Given the description of an element on the screen output the (x, y) to click on. 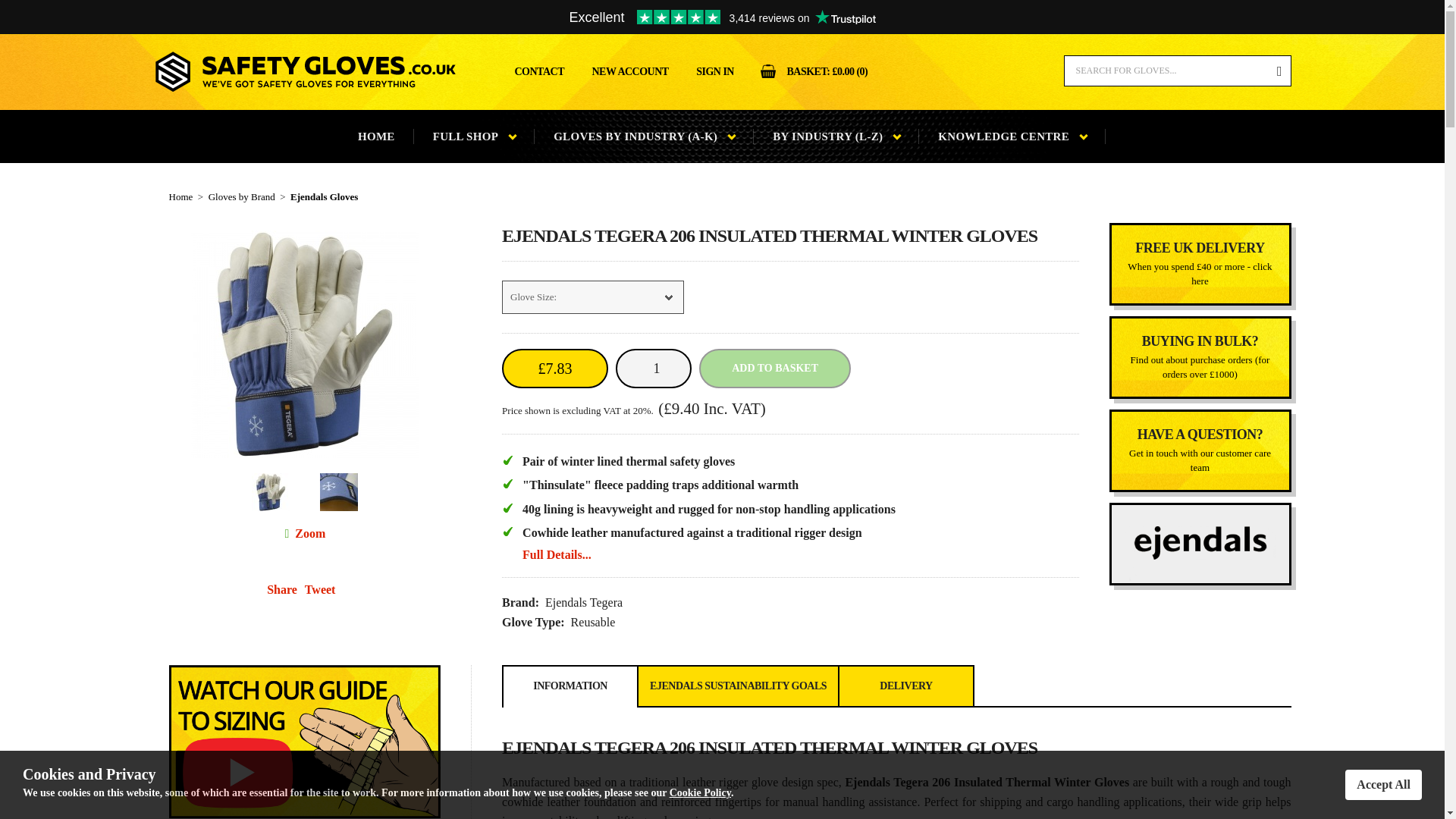
link (1200, 264)
Tweet (320, 589)
Home (180, 196)
link (1200, 357)
Zoom (309, 533)
ADD TO BASKET (774, 368)
Ejendals Tegera 206 Insulated Thermal Winter Gloves (309, 533)
Information on Purchase Orders and Wholesale (1200, 357)
Ejendals Gloves (323, 196)
Gloves by Brand (241, 196)
Ejendals Tegera 206 Insulated Thermal Winter Gloves (285, 533)
link (1200, 450)
Share (281, 589)
Contact our Customer Services (1200, 450)
More from this brand... (1199, 543)
